Given the description of an element on the screen output the (x, y) to click on. 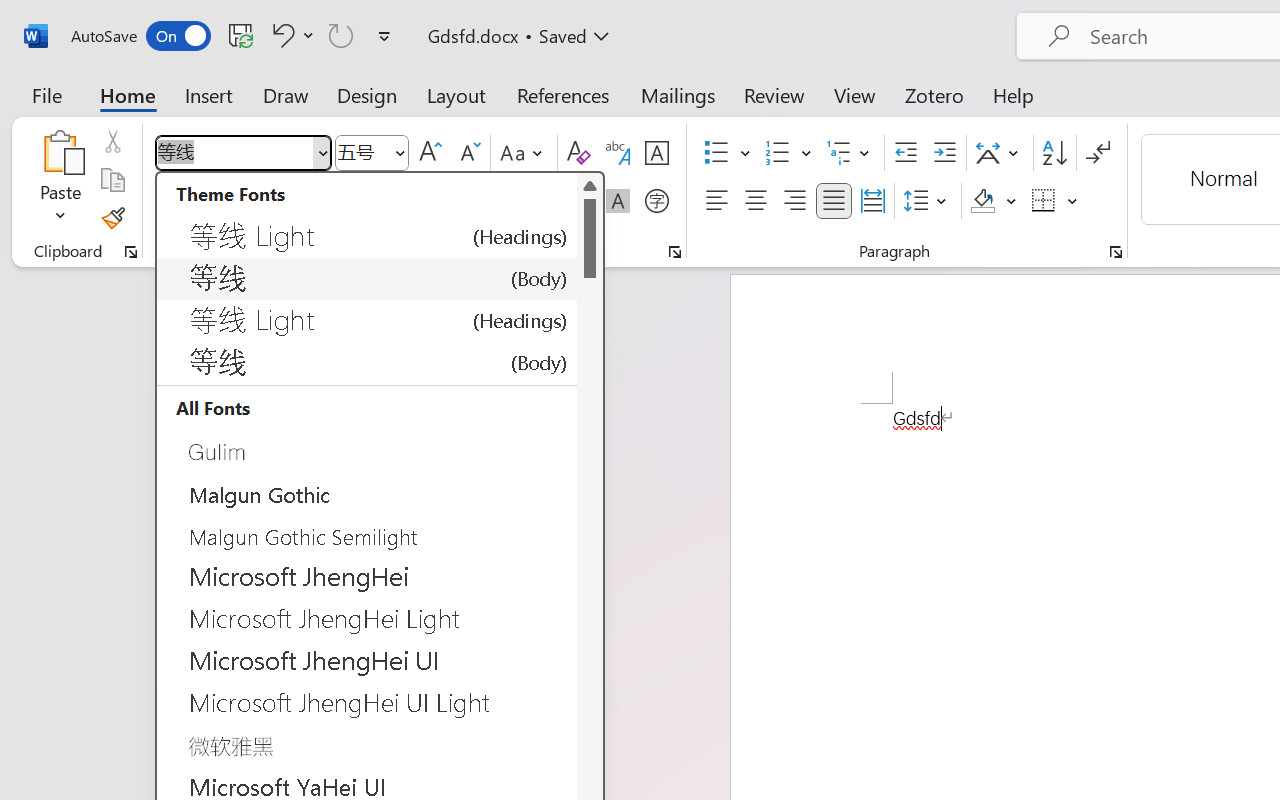
Malgun Gothic Semilight (367, 534)
Can't Repeat (341, 35)
Sort... (1054, 153)
Distributed (872, 201)
Phonetic Guide... (618, 153)
Show/Hide Editing Marks (1098, 153)
